Given the description of an element on the screen output the (x, y) to click on. 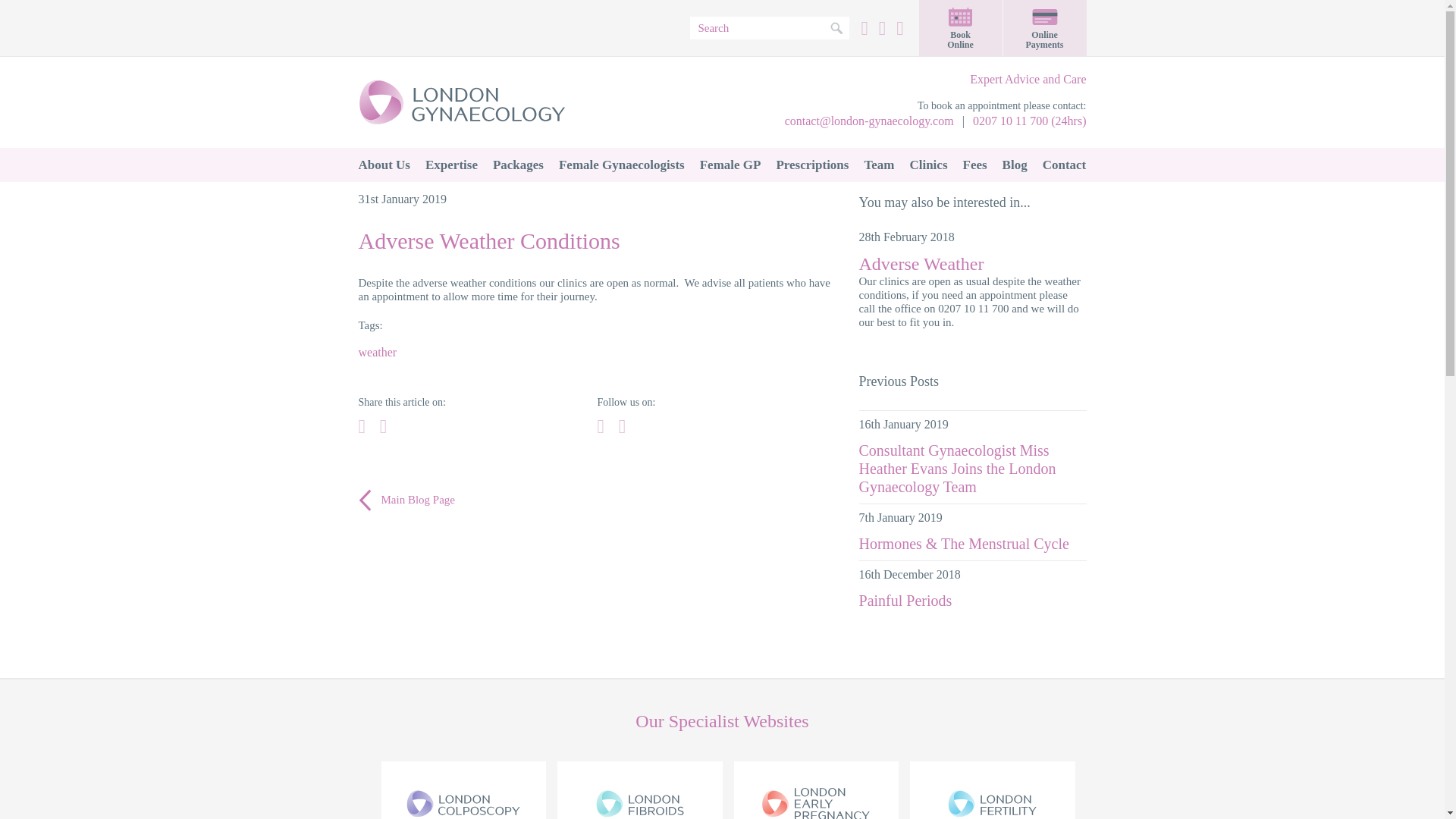
About Us (383, 164)
London Fertility (992, 790)
London Colposcopy (463, 790)
Online Payments (1044, 28)
London Early Pregnancy (816, 790)
London Fibroids (639, 790)
Expertise (450, 164)
Book Online (960, 28)
